Given the description of an element on the screen output the (x, y) to click on. 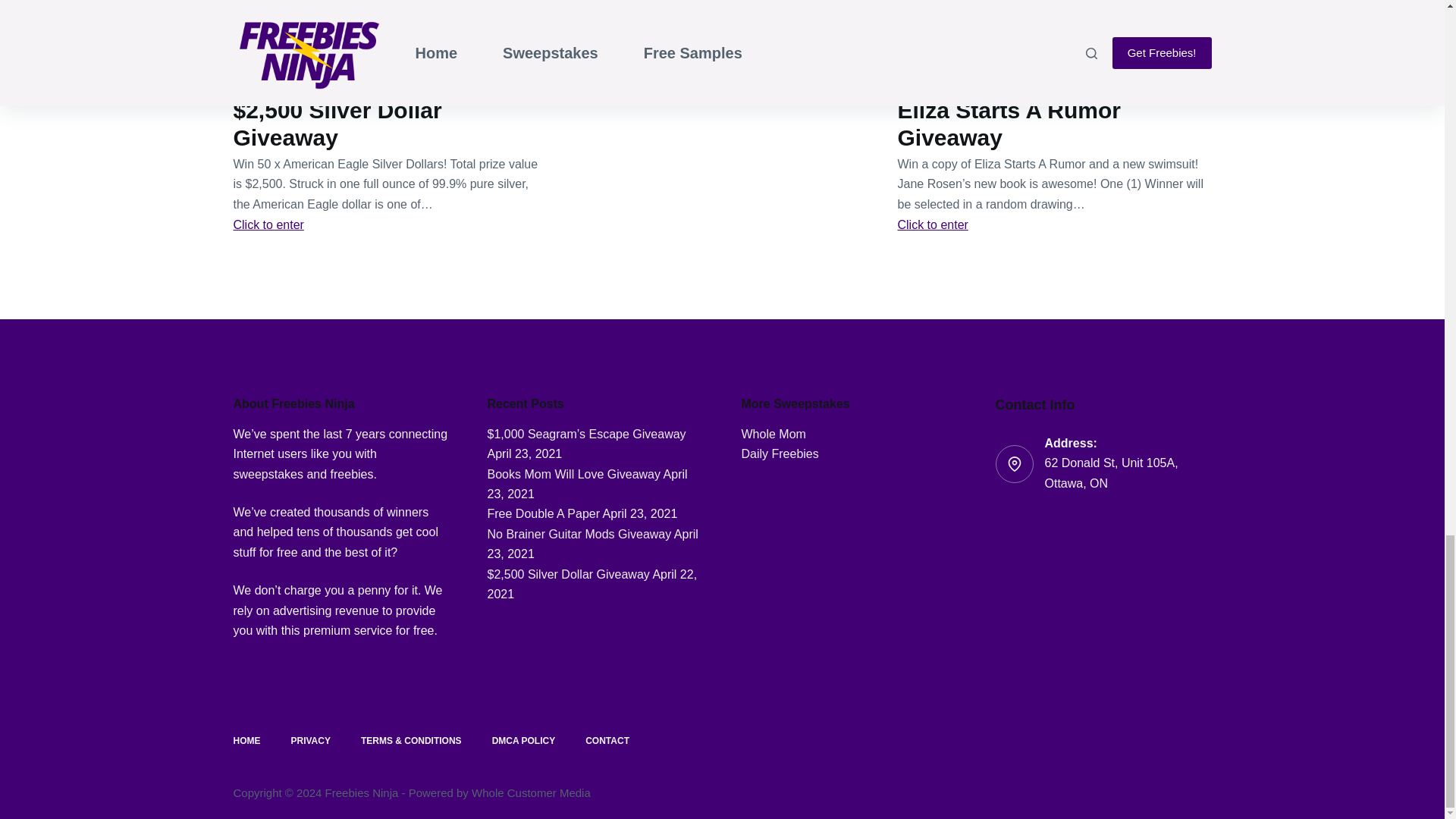
No Brainer Guitar Mods Giveaway (578, 533)
Click to enter (268, 224)
Click to enter (933, 224)
Free Double A Paper (542, 513)
Eliza Starts A Rumor Giveaway (1009, 123)
Books Mom Will Love Giveaway (573, 473)
